Given the description of an element on the screen output the (x, y) to click on. 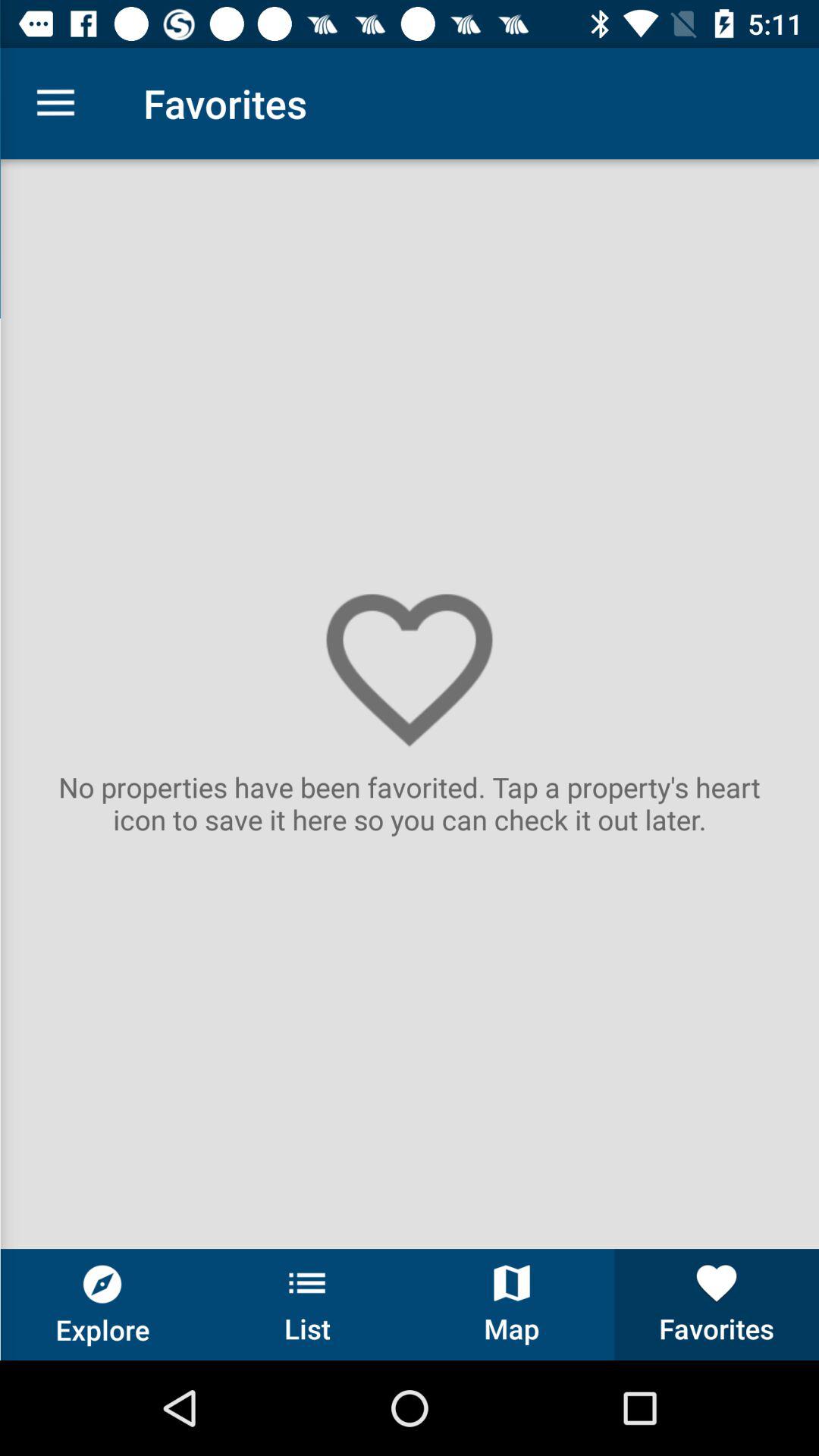
turn off the button next to the list button (102, 1304)
